Given the description of an element on the screen output the (x, y) to click on. 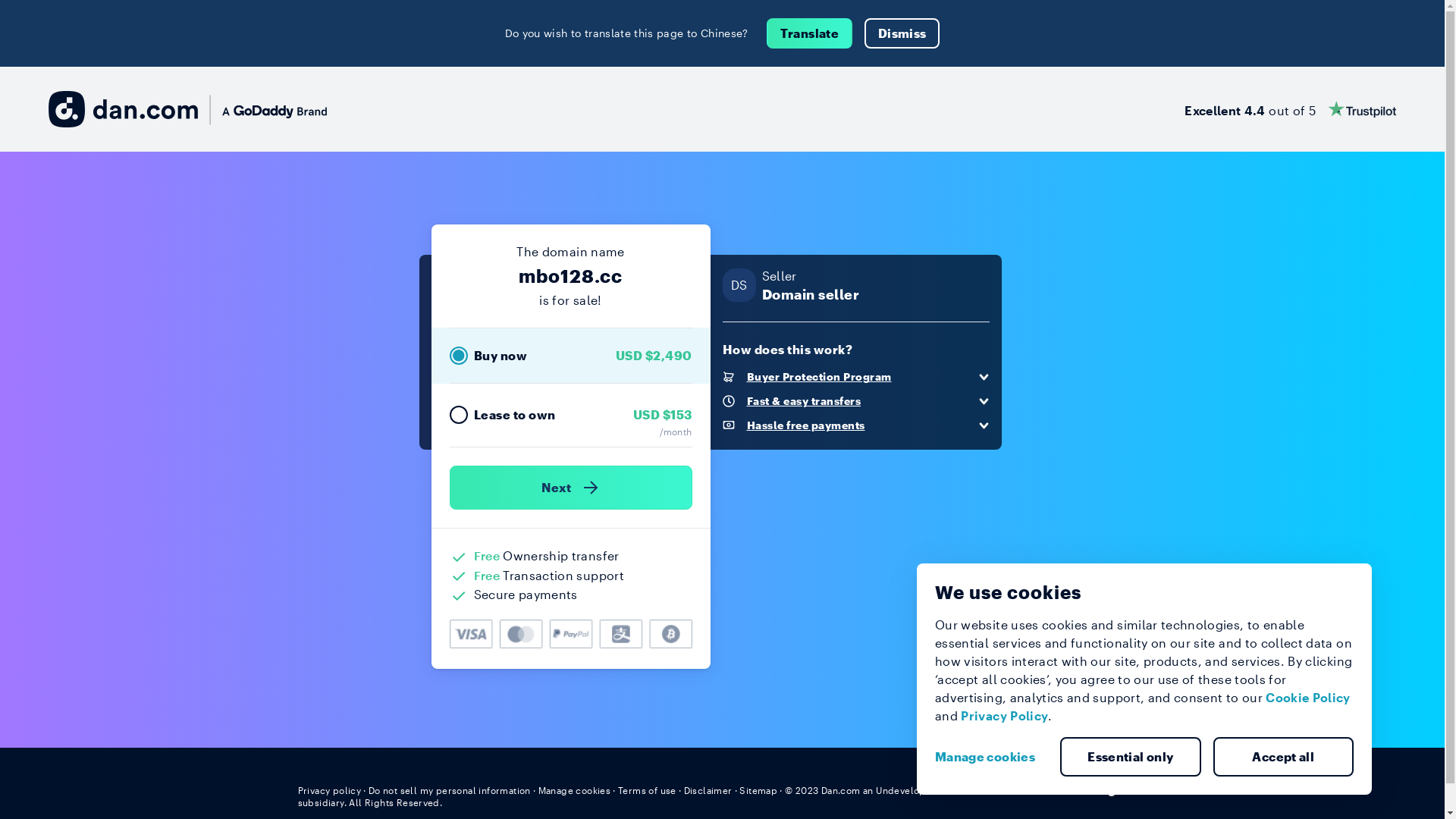
Terms of use Element type: text (647, 789)
Translate Element type: text (809, 33)
Excellent 4.4 out of 5 Element type: text (1290, 109)
Disclaimer Element type: text (708, 789)
Next
) Element type: text (569, 487)
Dismiss Element type: text (901, 33)
Cookie Policy Element type: text (1307, 697)
Privacy policy Element type: text (328, 789)
Manage cookies Element type: text (991, 756)
Do not sell my personal information Element type: text (449, 789)
English Element type: text (1119, 789)
Privacy Policy Element type: text (1004, 715)
Essential only Element type: text (1130, 756)
Manage cookies Element type: text (574, 790)
Sitemap Element type: text (758, 789)
Accept all Element type: text (1283, 756)
